Given the description of an element on the screen output the (x, y) to click on. 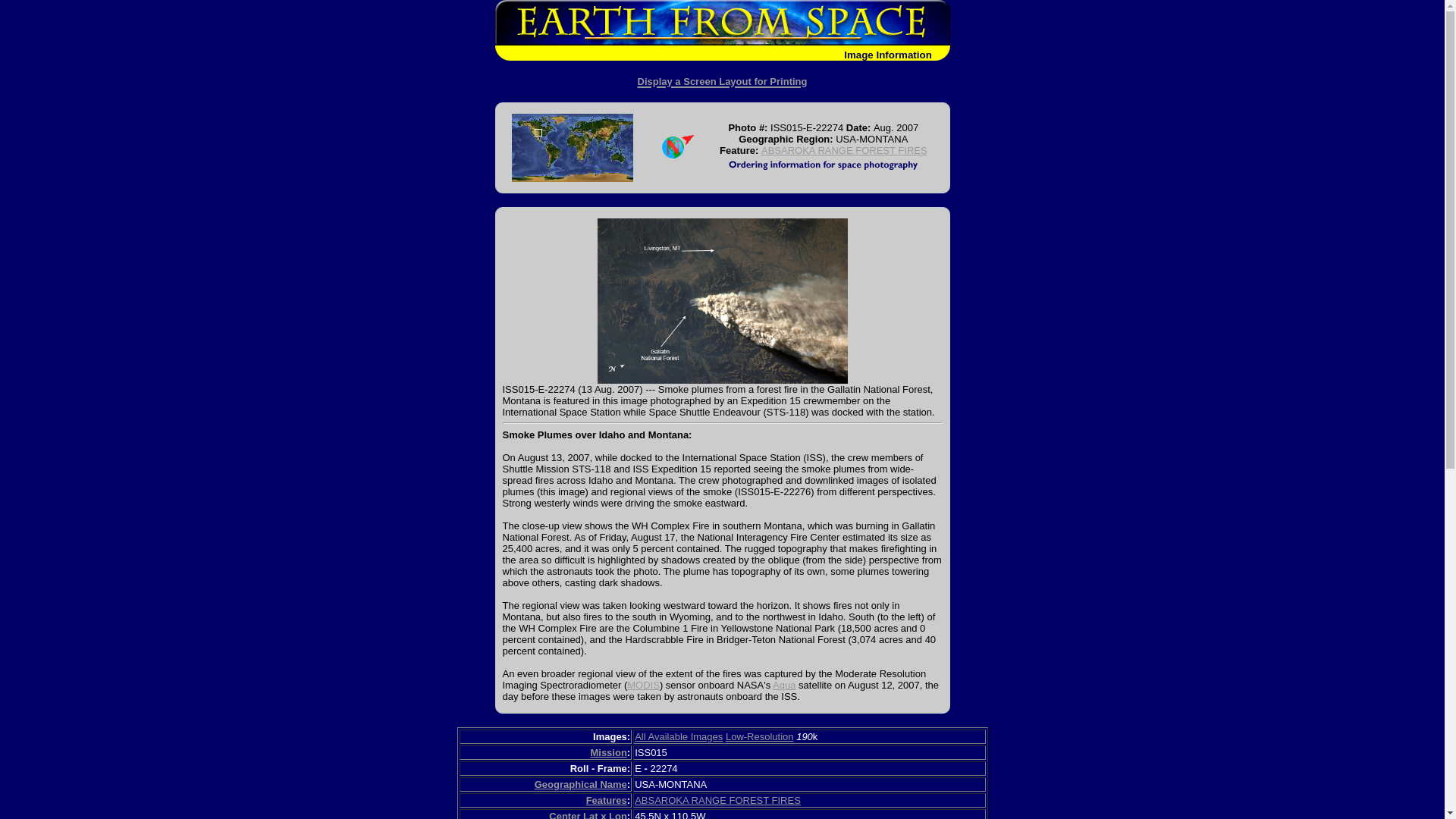
Aqua (783, 685)
All Available Images (678, 736)
Center Lat x Lon (587, 814)
MODIS (643, 685)
Display a Screen Layout for Printing (722, 78)
Low-Resolution (759, 736)
Mission (607, 752)
ABSAROKA RANGE FOREST FIRES (717, 799)
Search for other records with "ABSAROKA RANGE FOREST FIRES". (717, 799)
Geographical Name (580, 784)
Features (606, 799)
ABSAROKA RANGE FOREST FIRES (844, 150)
Search for other records with "ABSAROKA RANGE FOREST FIRES". (844, 150)
